Given the description of an element on the screen output the (x, y) to click on. 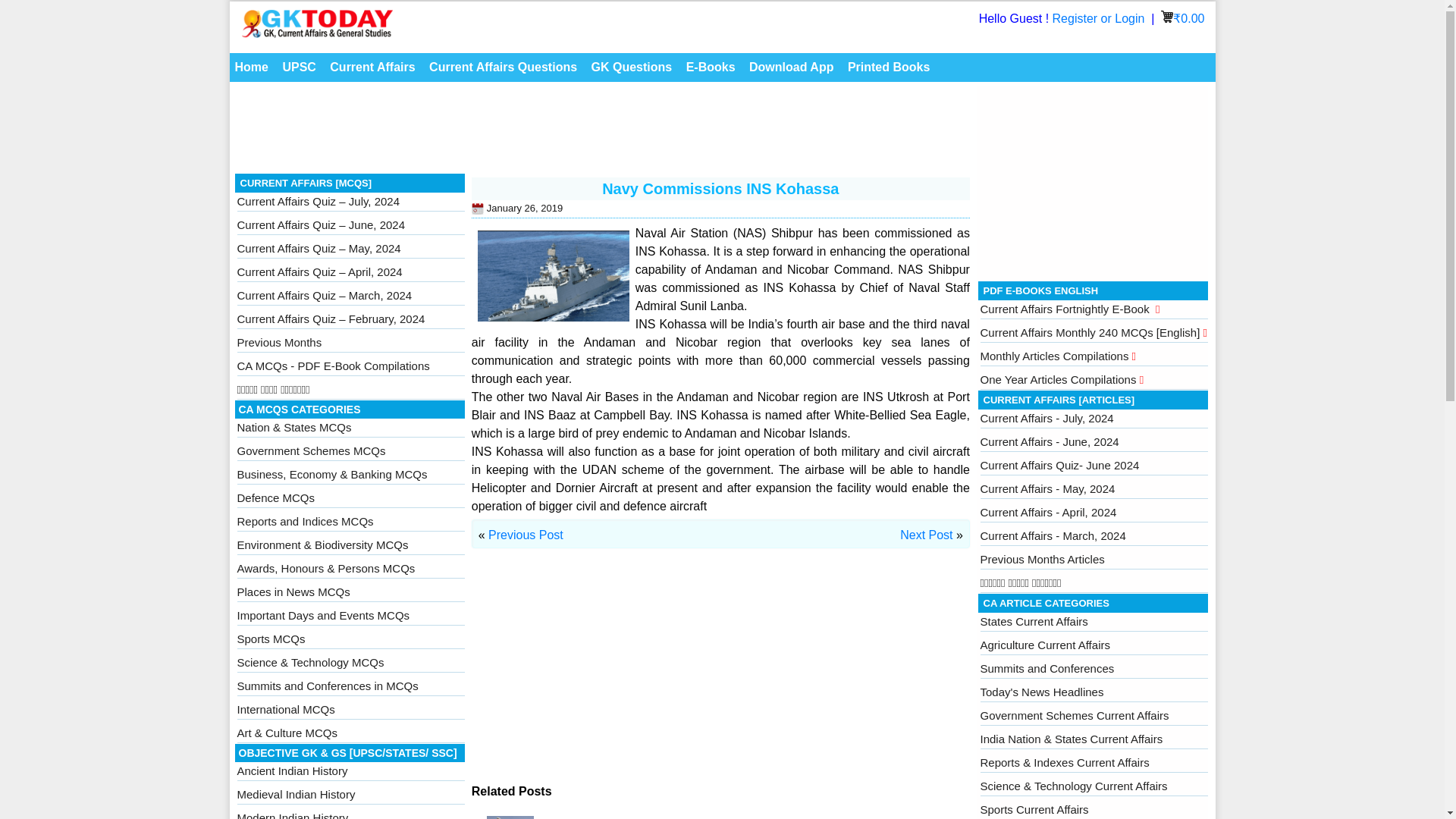
Next Post (925, 534)
Previous Post (525, 534)
Reports and Indices MCQs (303, 521)
E-Books (711, 67)
Current Affairs Questions (502, 67)
GK Questions (632, 67)
Previous Months (278, 341)
Government Schemes MCQs (310, 450)
Download App (791, 67)
Current Affairs (372, 67)
Printed Books (888, 67)
Register or Login (1100, 18)
